Given the description of an element on the screen output the (x, y) to click on. 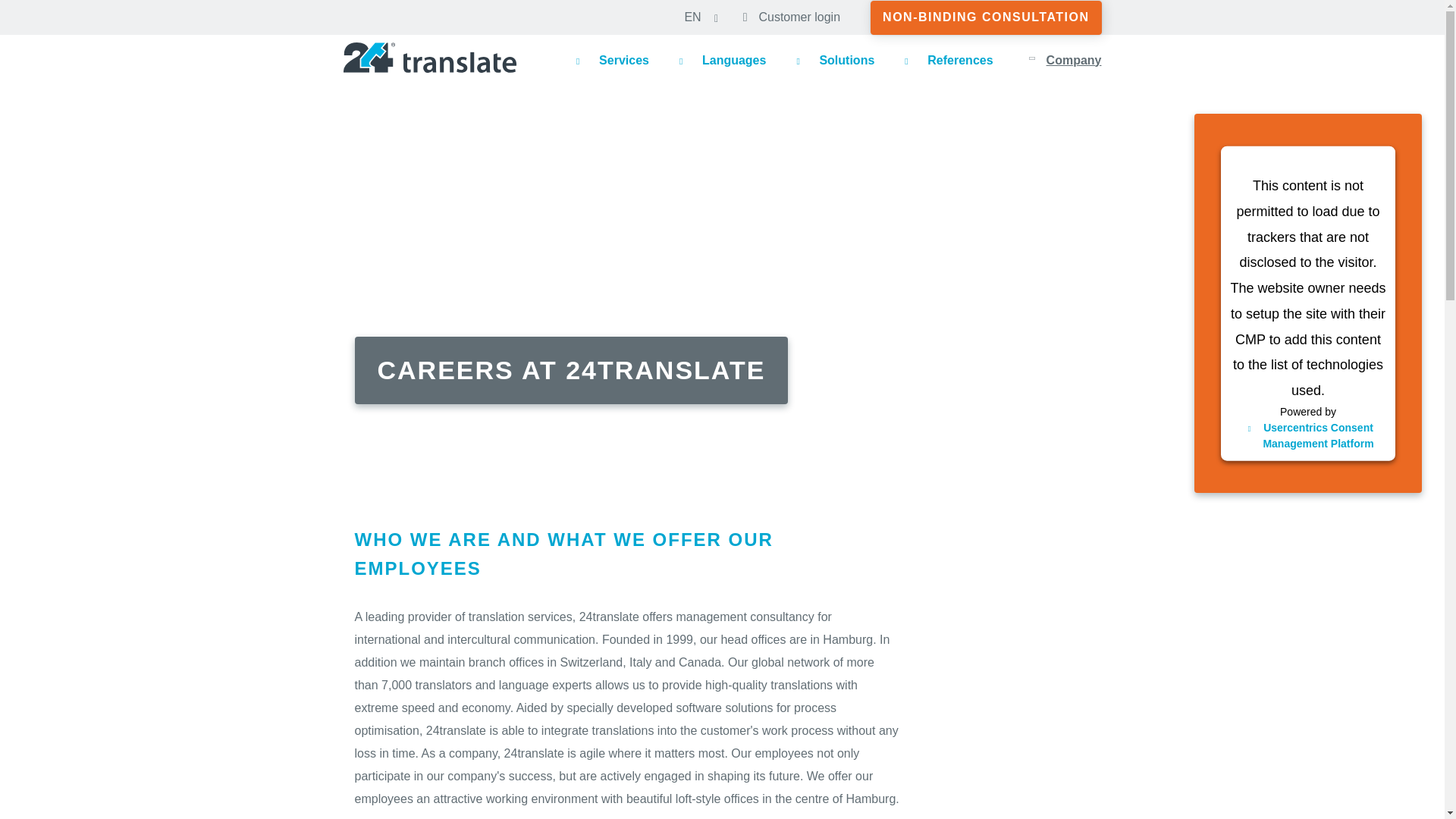
Languages (722, 59)
NON-BINDING CONSULTATION (985, 17)
Customer login (795, 17)
Services (612, 59)
EN (695, 17)
